Given the description of an element on the screen output the (x, y) to click on. 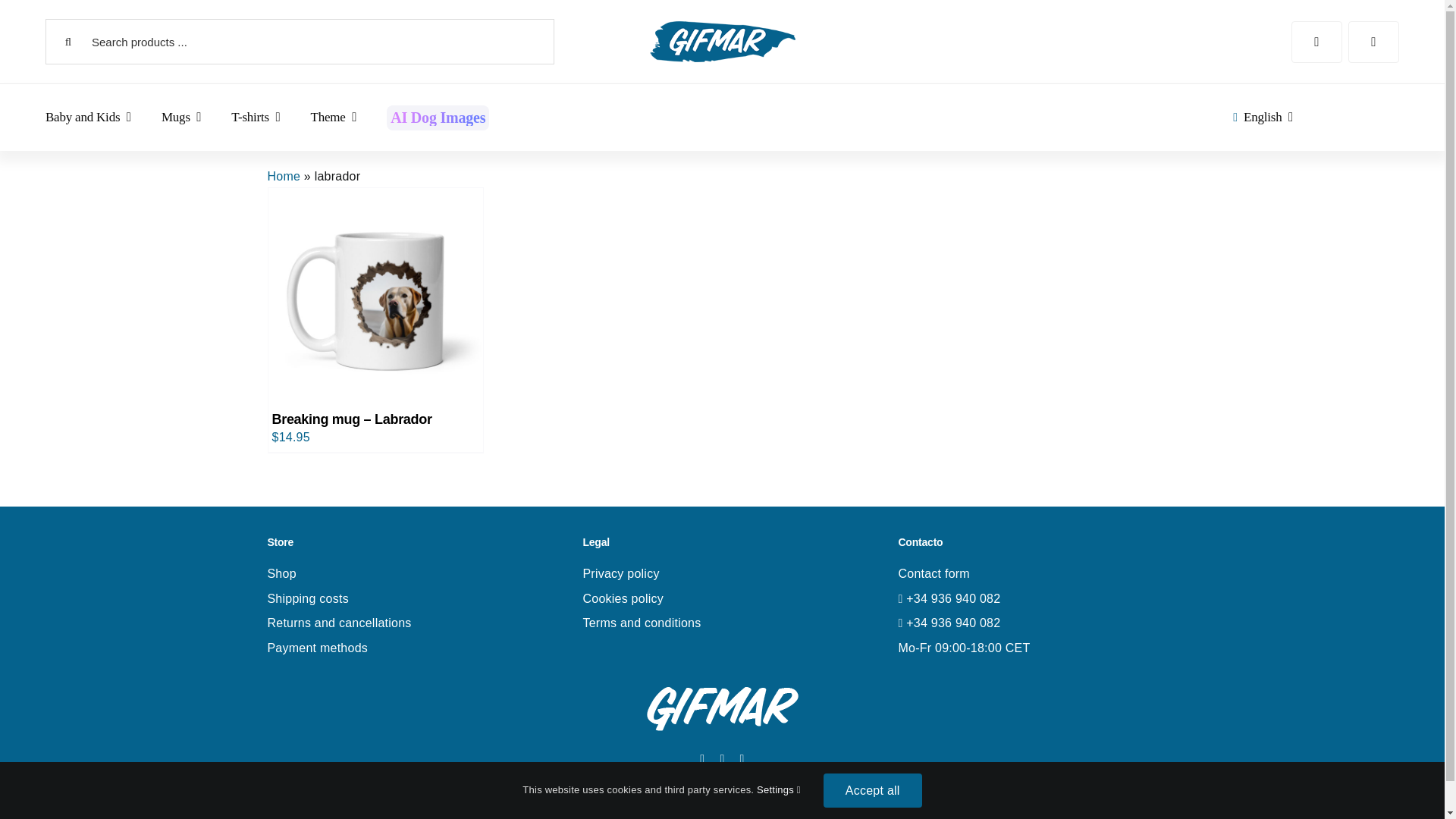
Returns and cancellations (338, 622)
T-shirts (255, 117)
English (1259, 117)
Shop (280, 573)
Cookies policy (622, 598)
Baby and Kids (88, 117)
Theme (333, 117)
Shipping costs (306, 598)
AI Dog Images (437, 117)
Payment methods (317, 647)
